Given the description of an element on the screen output the (x, y) to click on. 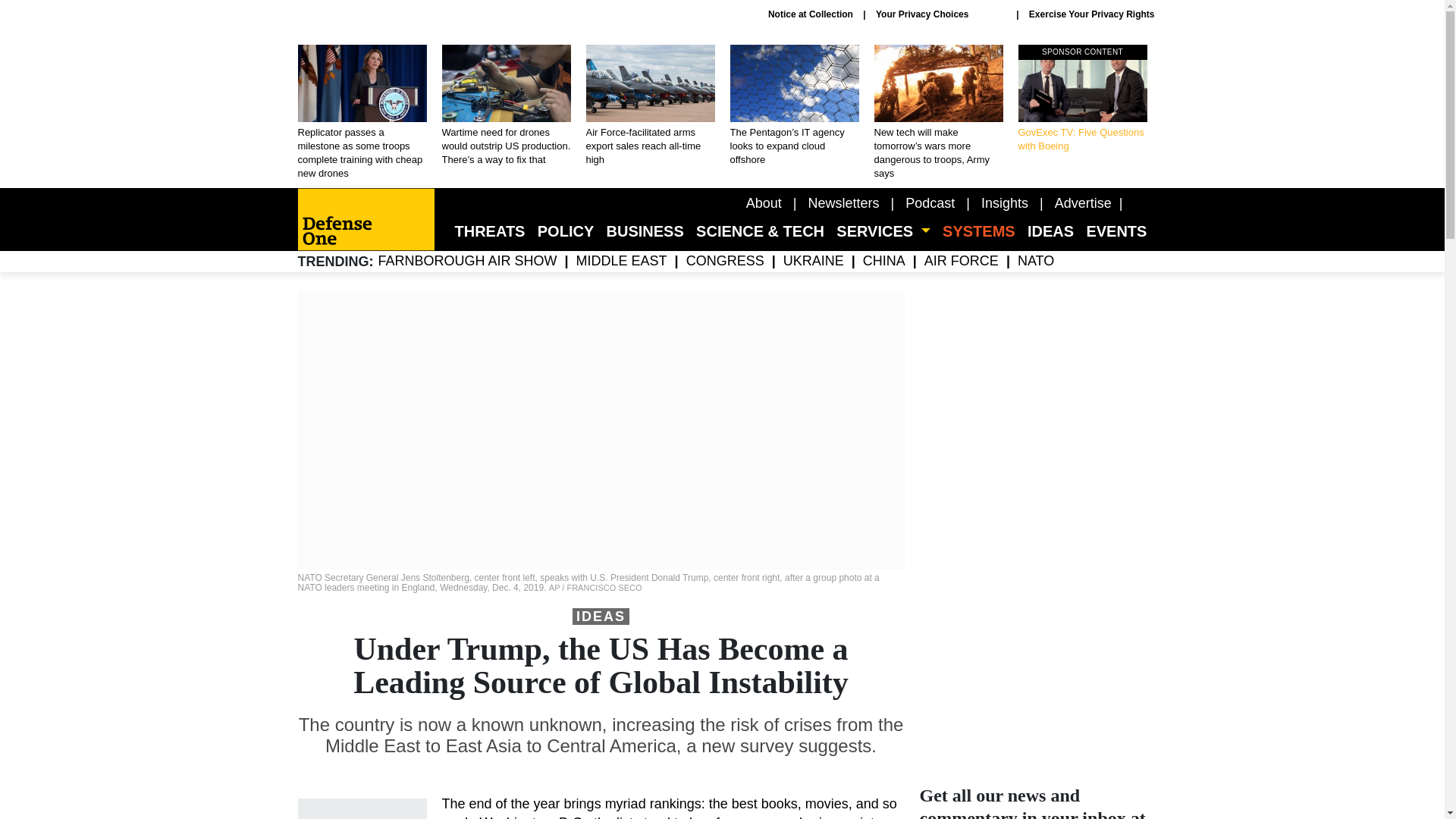
Advertise (1083, 202)
Notice at Collection (810, 14)
Podcast (930, 202)
Newsletters (843, 202)
About (763, 202)
Your Privacy Choices (941, 14)
Exercise Your Privacy Rights (1082, 99)
Insights (1091, 14)
Air Force-facilitated arms export sales reach all-time high (1004, 202)
